Given the description of an element on the screen output the (x, y) to click on. 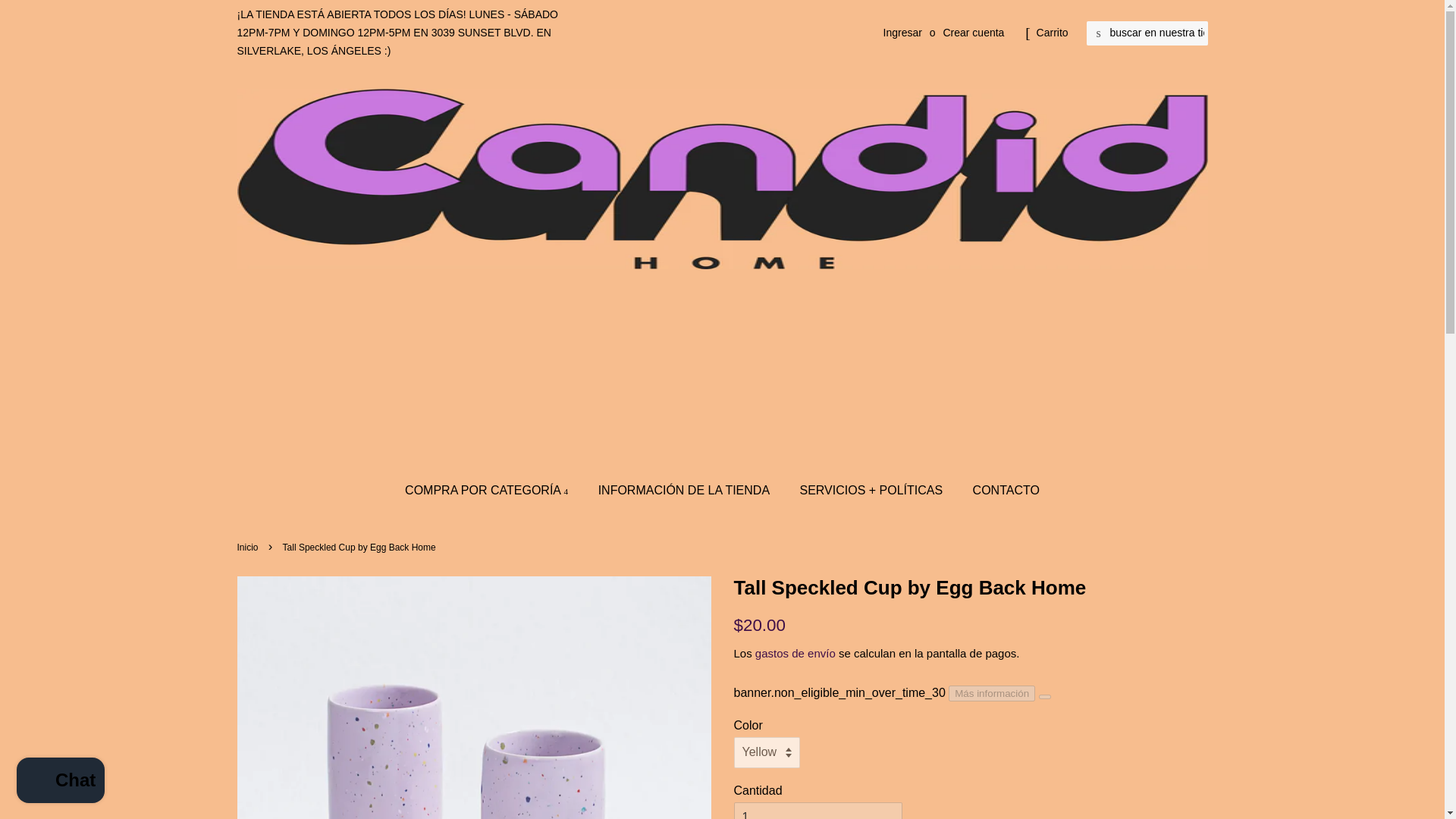
Tall Speckled Cup by Egg Back Home (970, 587)
Volver a la portada (248, 547)
Chat de la tienda online Shopify (60, 781)
Ingresar (902, 32)
BUSCAR (1097, 33)
Carrito (1052, 33)
Crear cuenta (973, 32)
1 (817, 810)
